Given the description of an element on the screen output the (x, y) to click on. 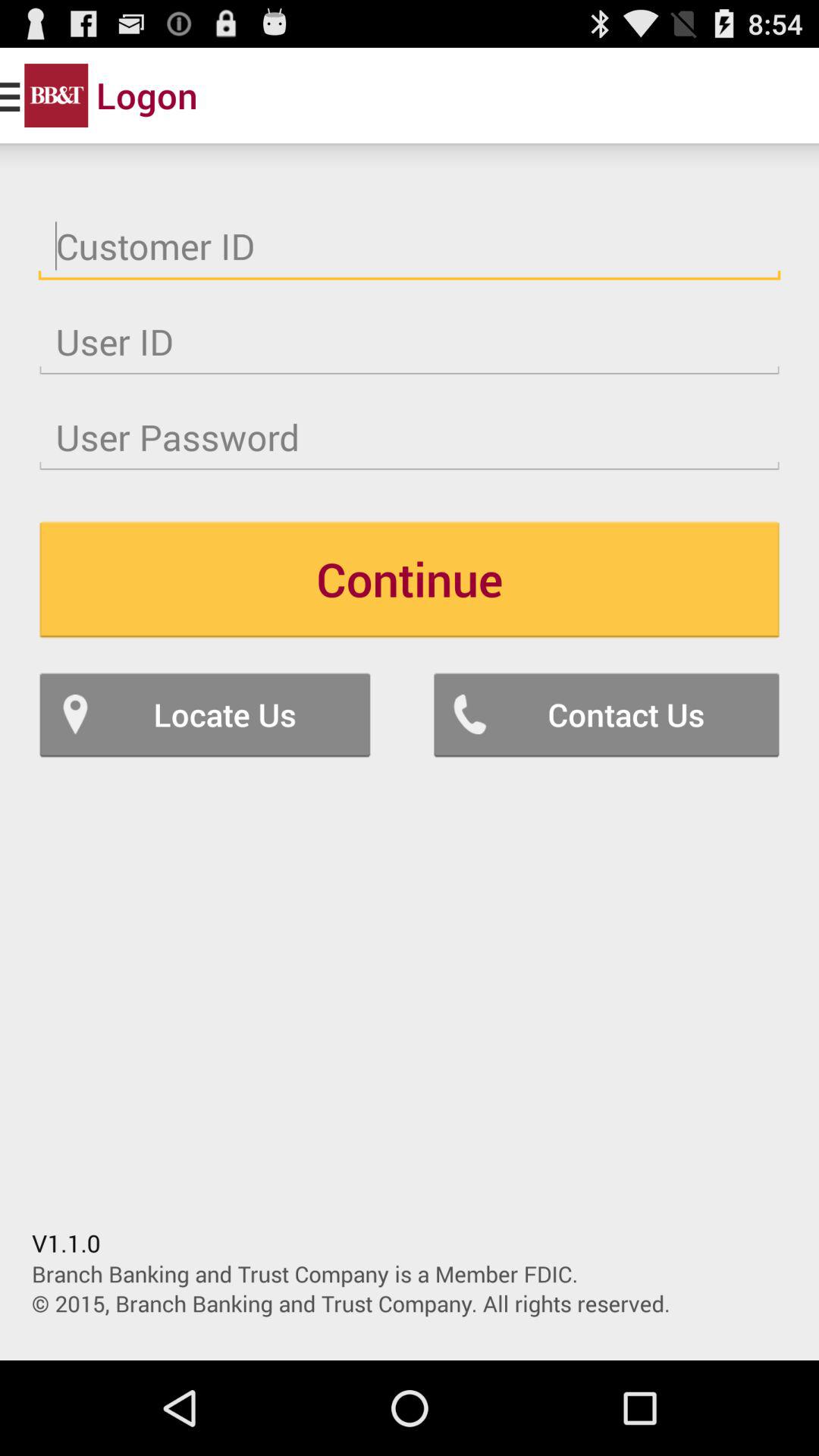
turn off the icon above v1.1.0 (204, 714)
